Given the description of an element on the screen output the (x, y) to click on. 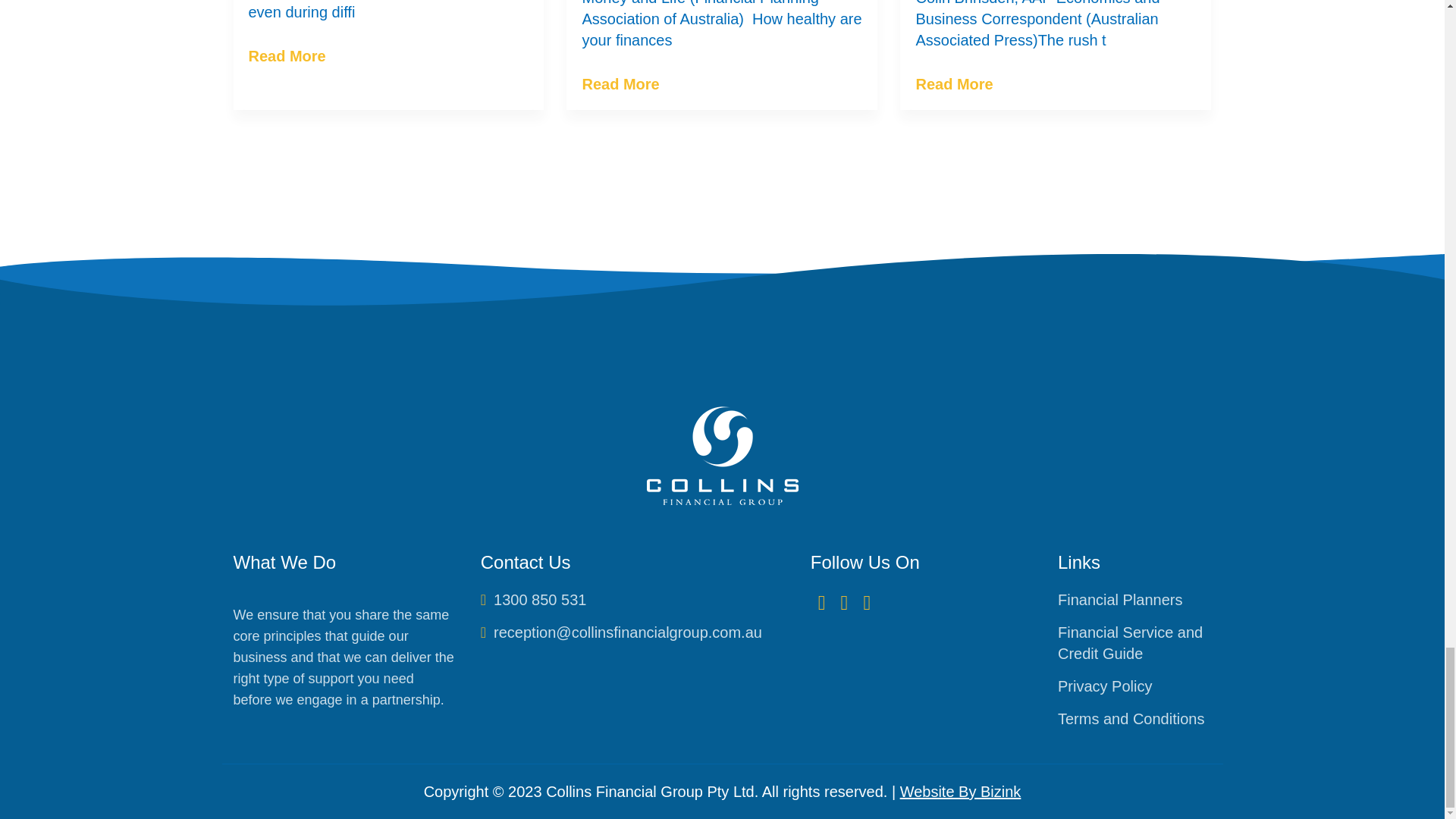
Read More (287, 55)
Read More (619, 84)
Read More (953, 84)
